Given the description of an element on the screen output the (x, y) to click on. 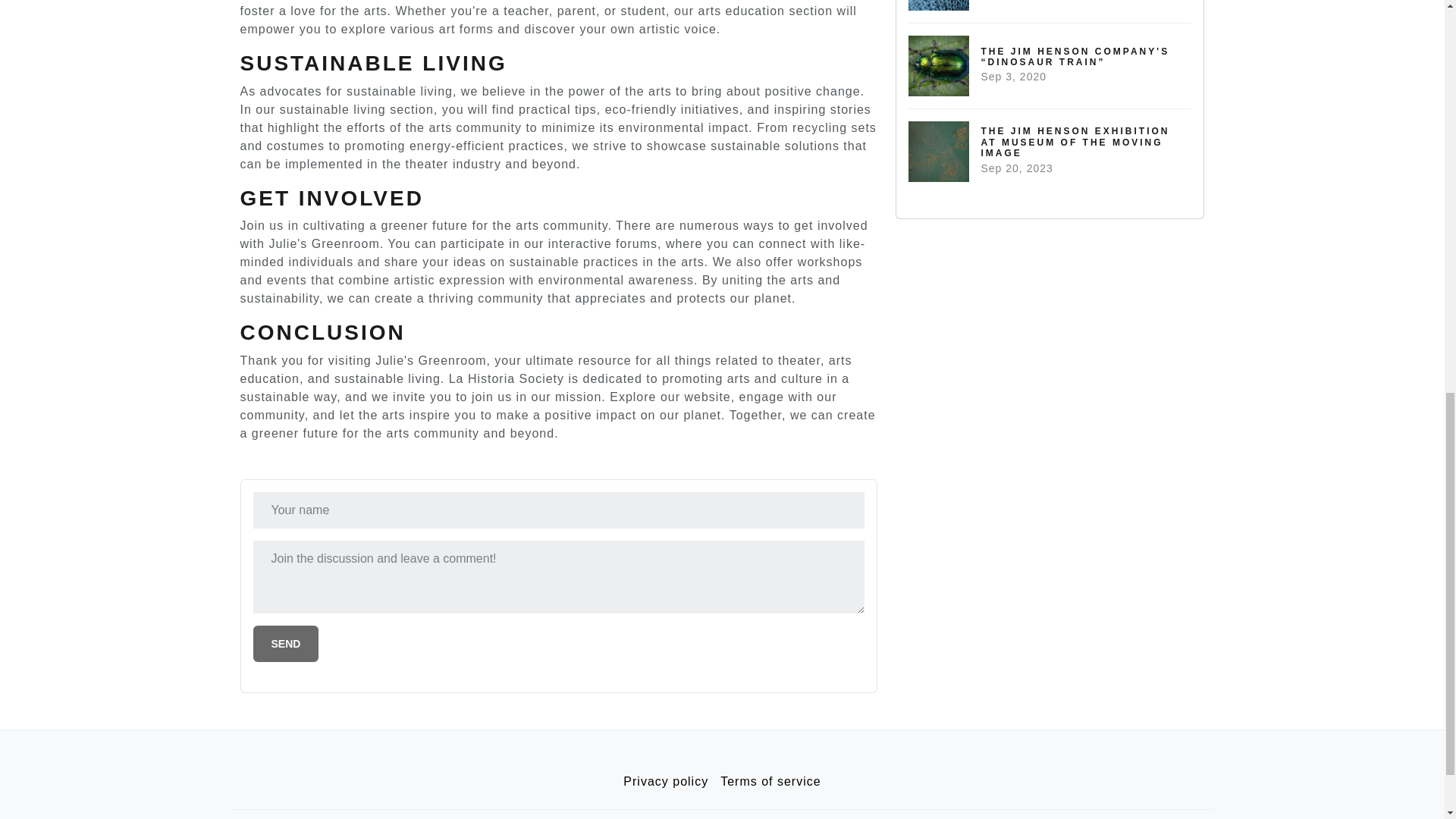
Send (1050, 11)
Terms of service (285, 643)
Send (770, 781)
Privacy policy (285, 643)
